Given the description of an element on the screen output the (x, y) to click on. 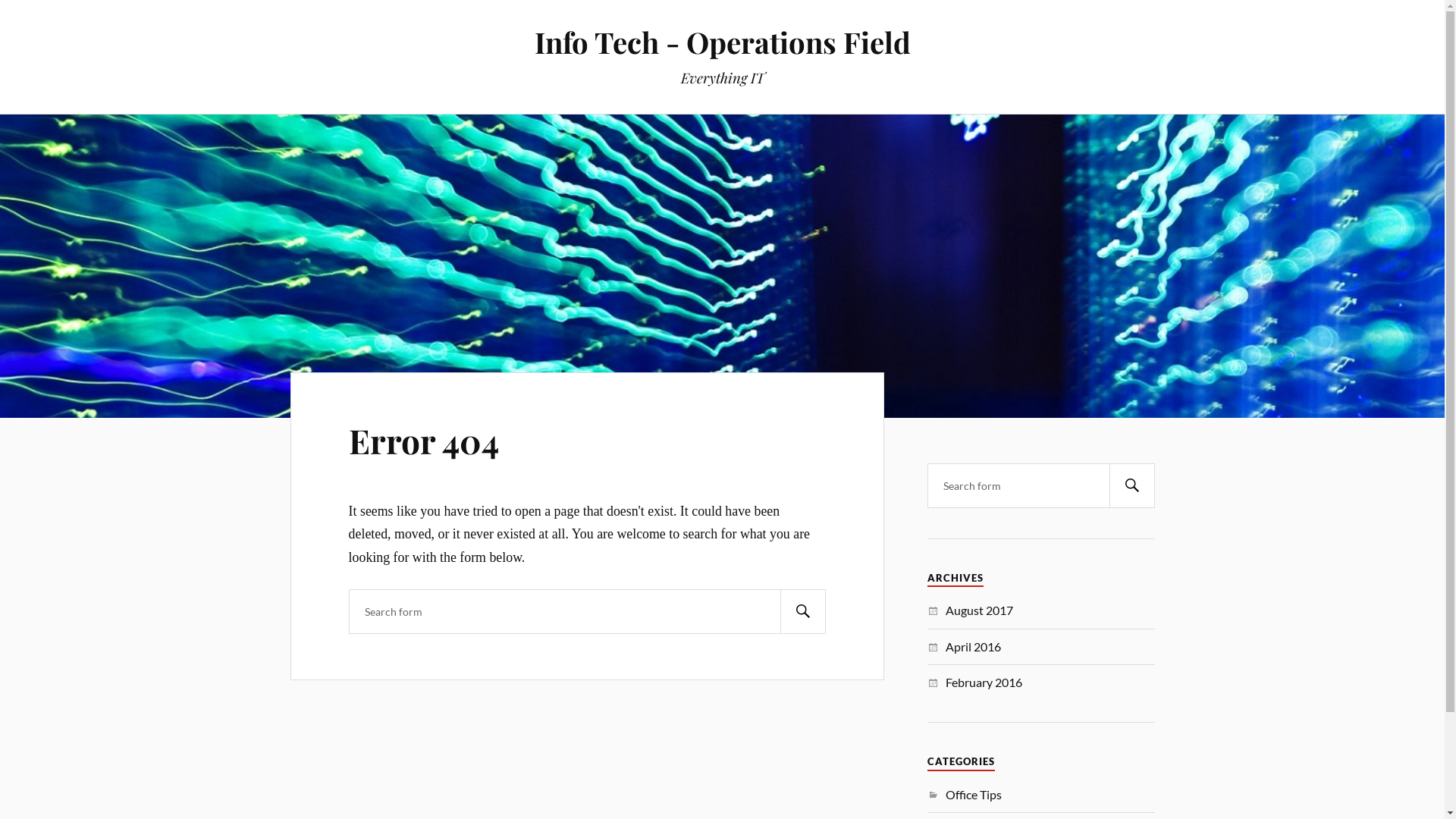
Office Tips Element type: text (973, 794)
August 2017 Element type: text (979, 609)
April 2016 Element type: text (973, 646)
February 2016 Element type: text (983, 681)
Info Tech - Operations Field Element type: text (721, 41)
